Given the description of an element on the screen output the (x, y) to click on. 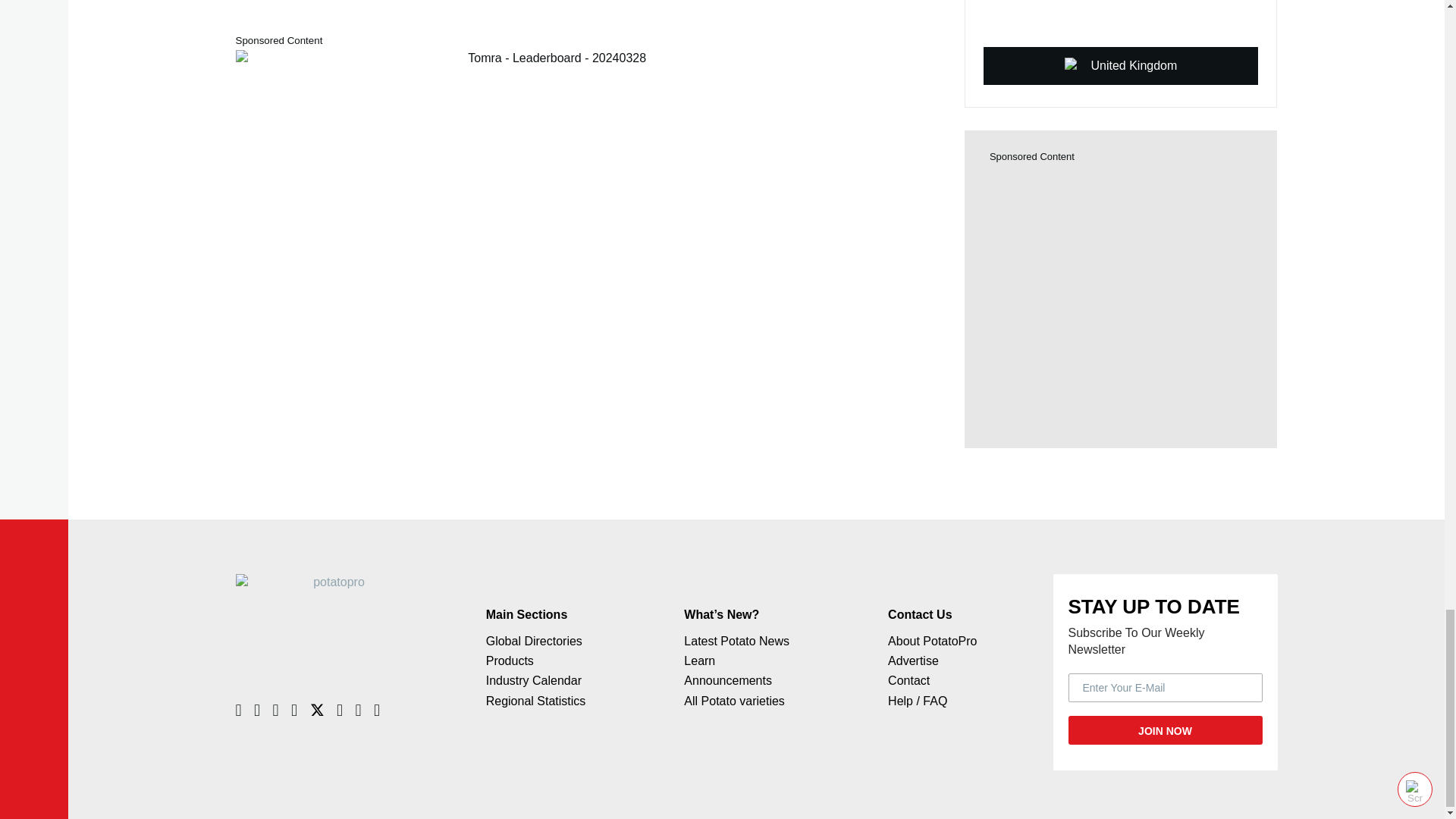
JOIN NOW (1164, 729)
